Given the description of an element on the screen output the (x, y) to click on. 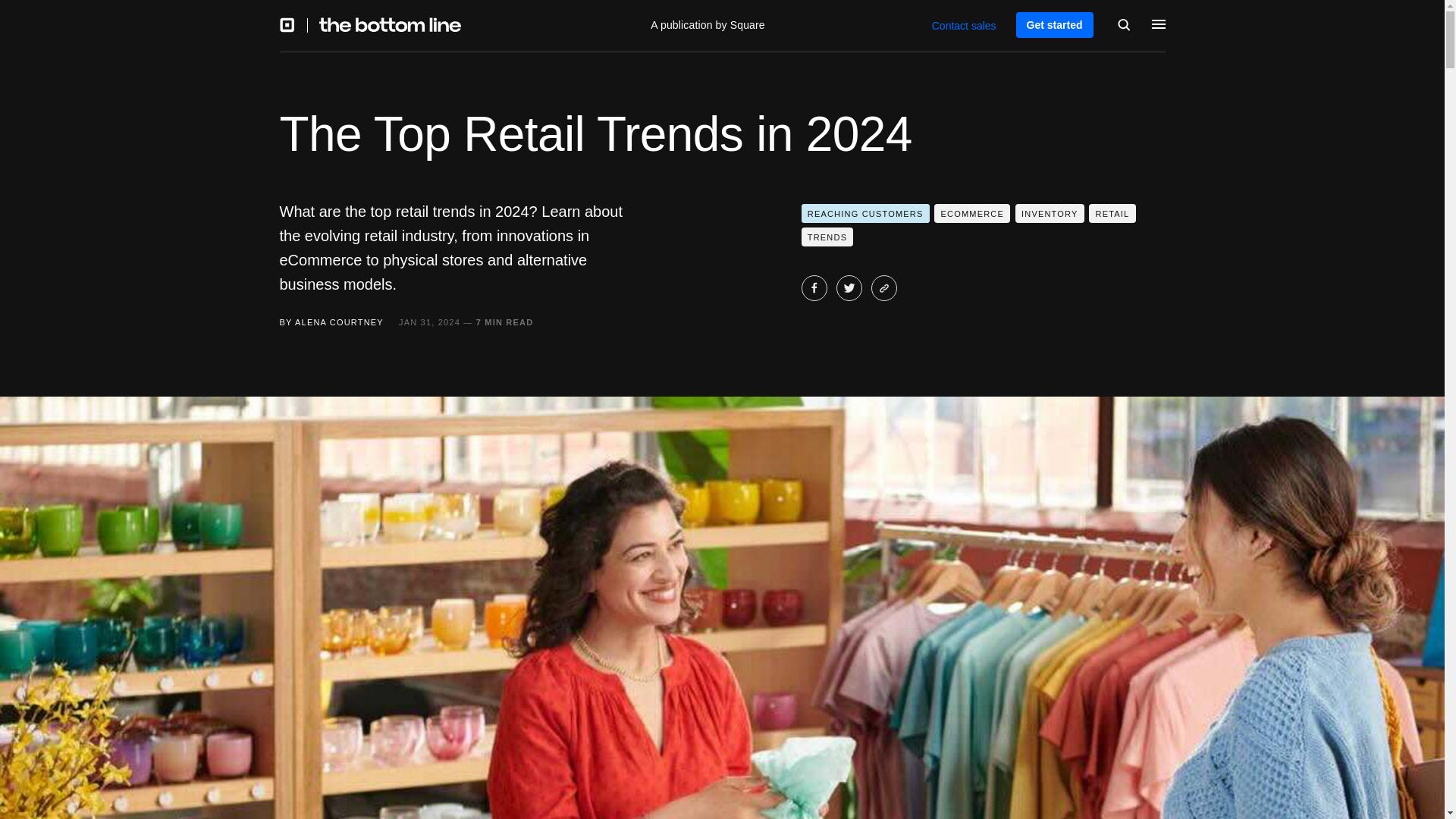
Contact sales (963, 26)
Get started (1054, 24)
